Given the description of an element on the screen output the (x, y) to click on. 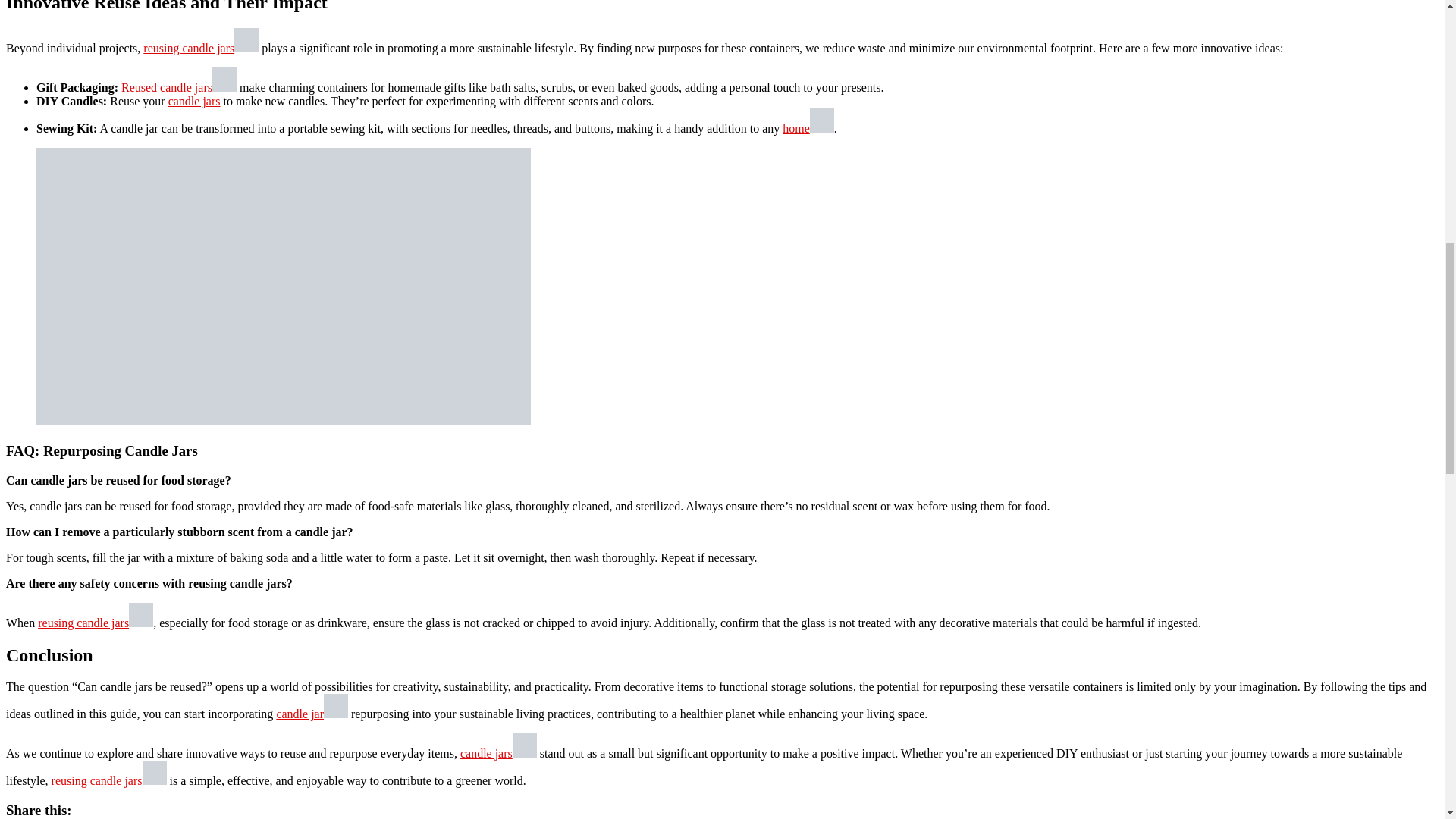
Reused candle jars (177, 87)
candle jars (498, 753)
reusing candle jars (94, 622)
reusing candle jars (108, 780)
candle jars (194, 101)
home (808, 128)
reusing candle jars (200, 47)
candle jar (311, 713)
